Given the description of an element on the screen output the (x, y) to click on. 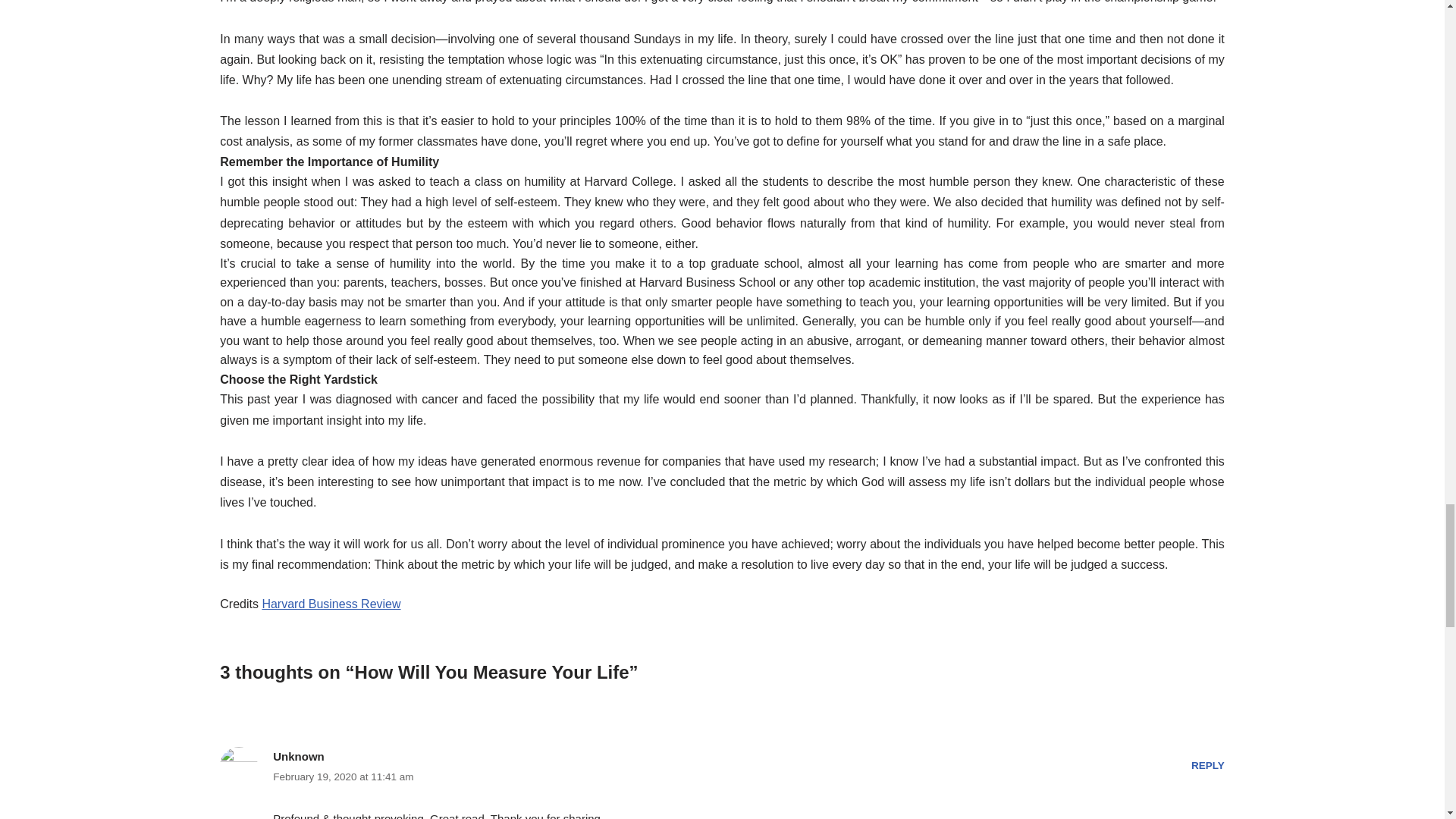
Harvard Business Review (331, 603)
Unknown (298, 756)
February 19, 2020 at 11:41 am (343, 776)
REPLY (1207, 765)
